Given the description of an element on the screen output the (x, y) to click on. 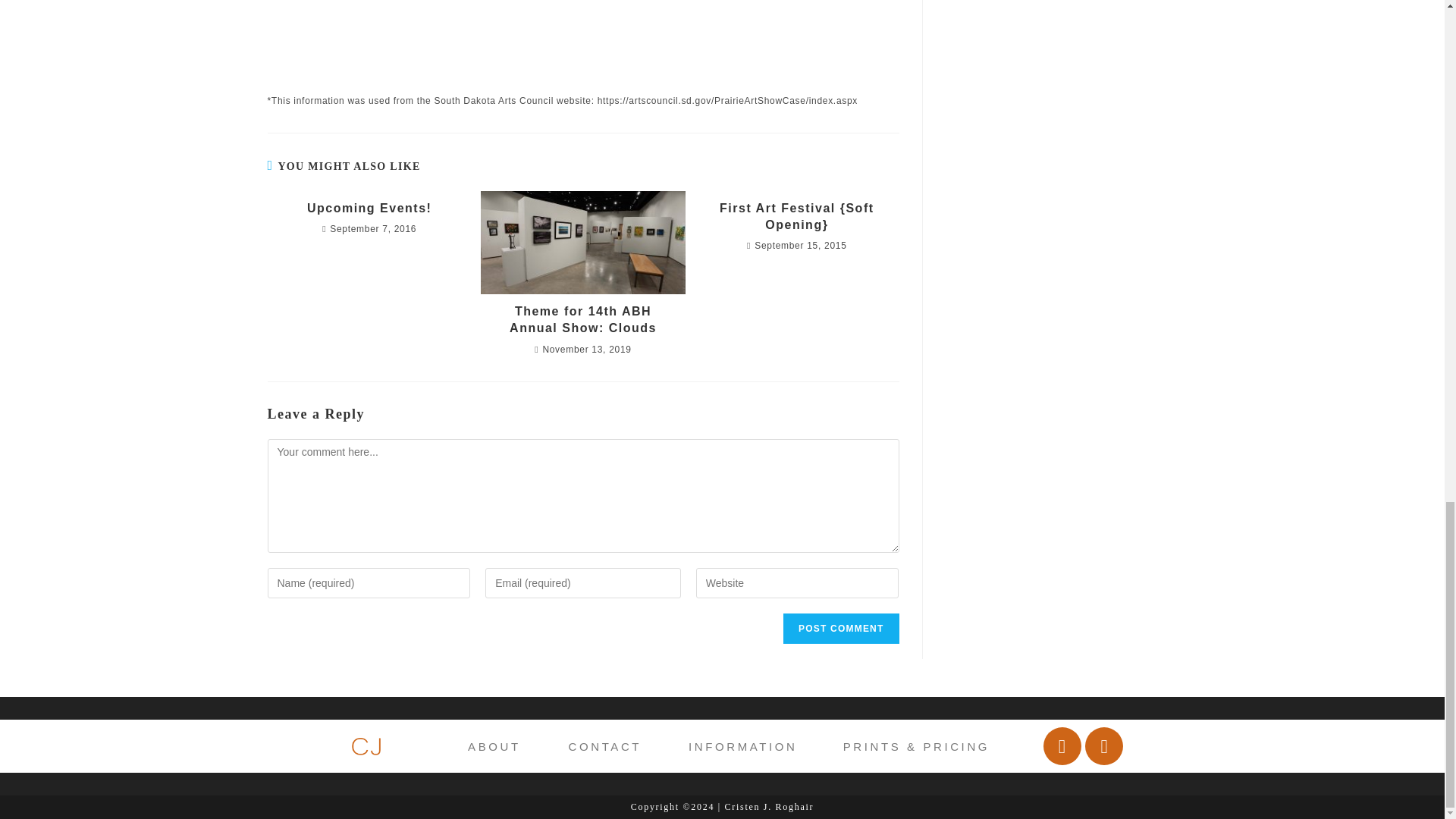
Post Comment (840, 628)
